Given the description of an element on the screen output the (x, y) to click on. 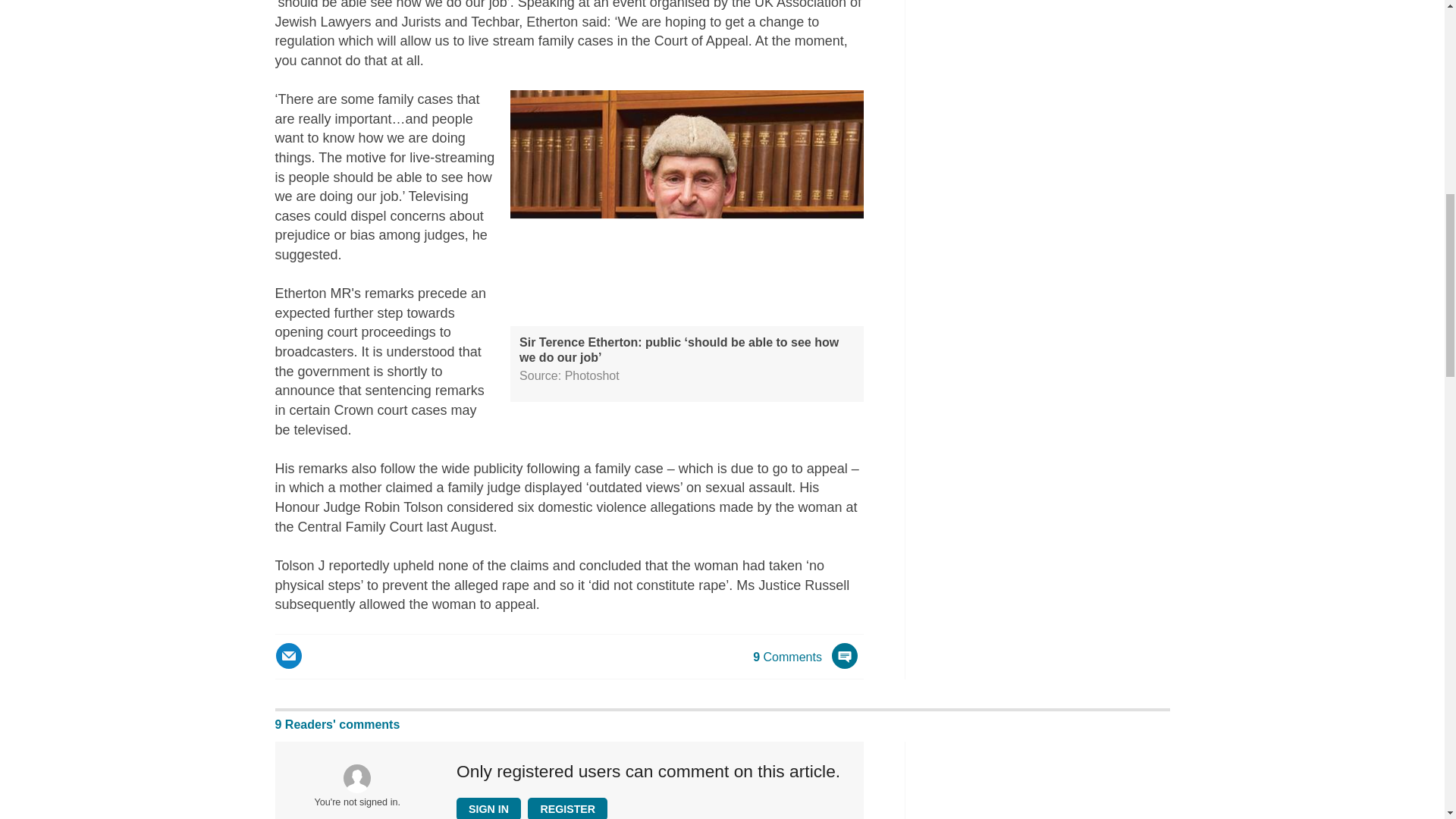
Email this article (288, 655)
9 Comments (805, 664)
